Given the description of an element on the screen output the (x, y) to click on. 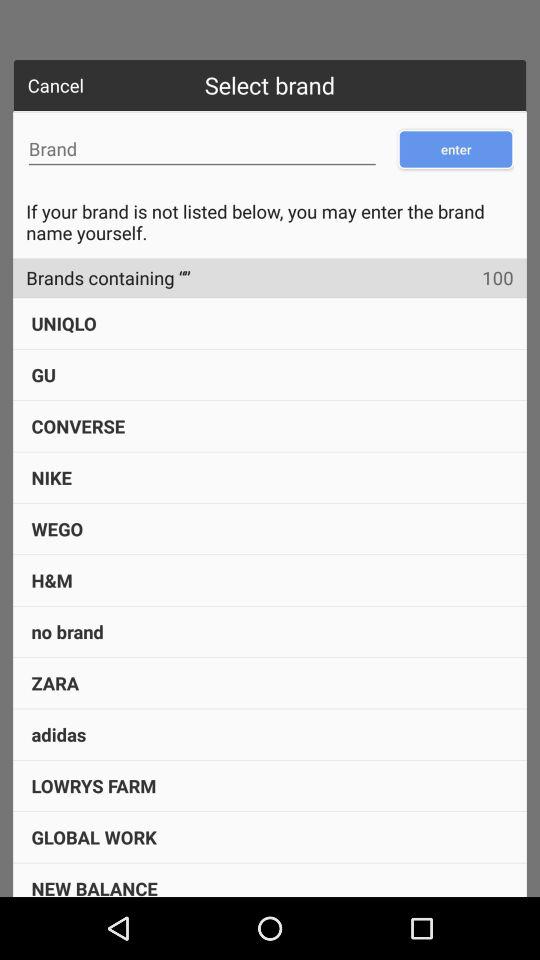
flip to wego item (57, 528)
